Given the description of an element on the screen output the (x, y) to click on. 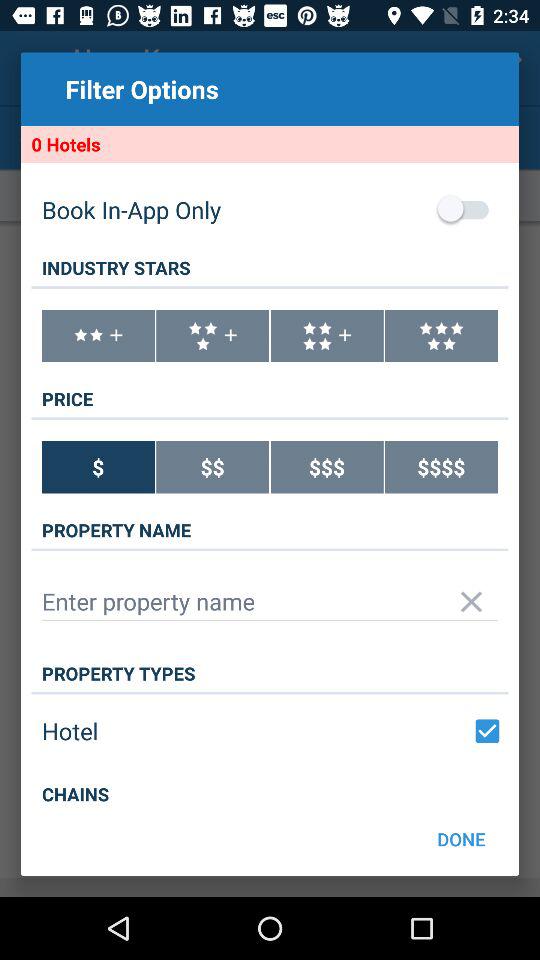
check/uncheck hotel option (487, 731)
